Given the description of an element on the screen output the (x, y) to click on. 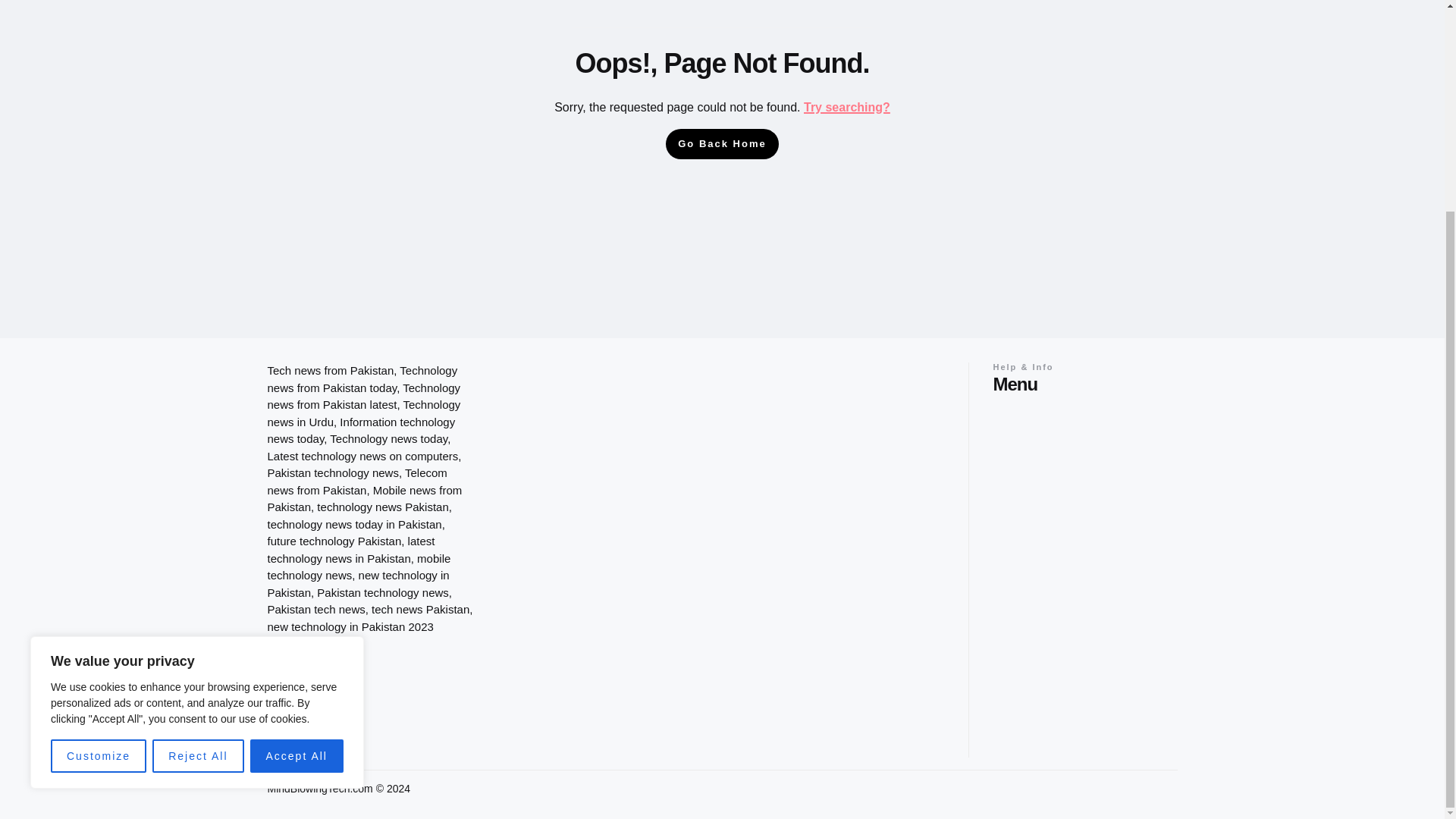
Customize (98, 480)
Reject All (197, 480)
Accept All (296, 480)
